Given the description of an element on the screen output the (x, y) to click on. 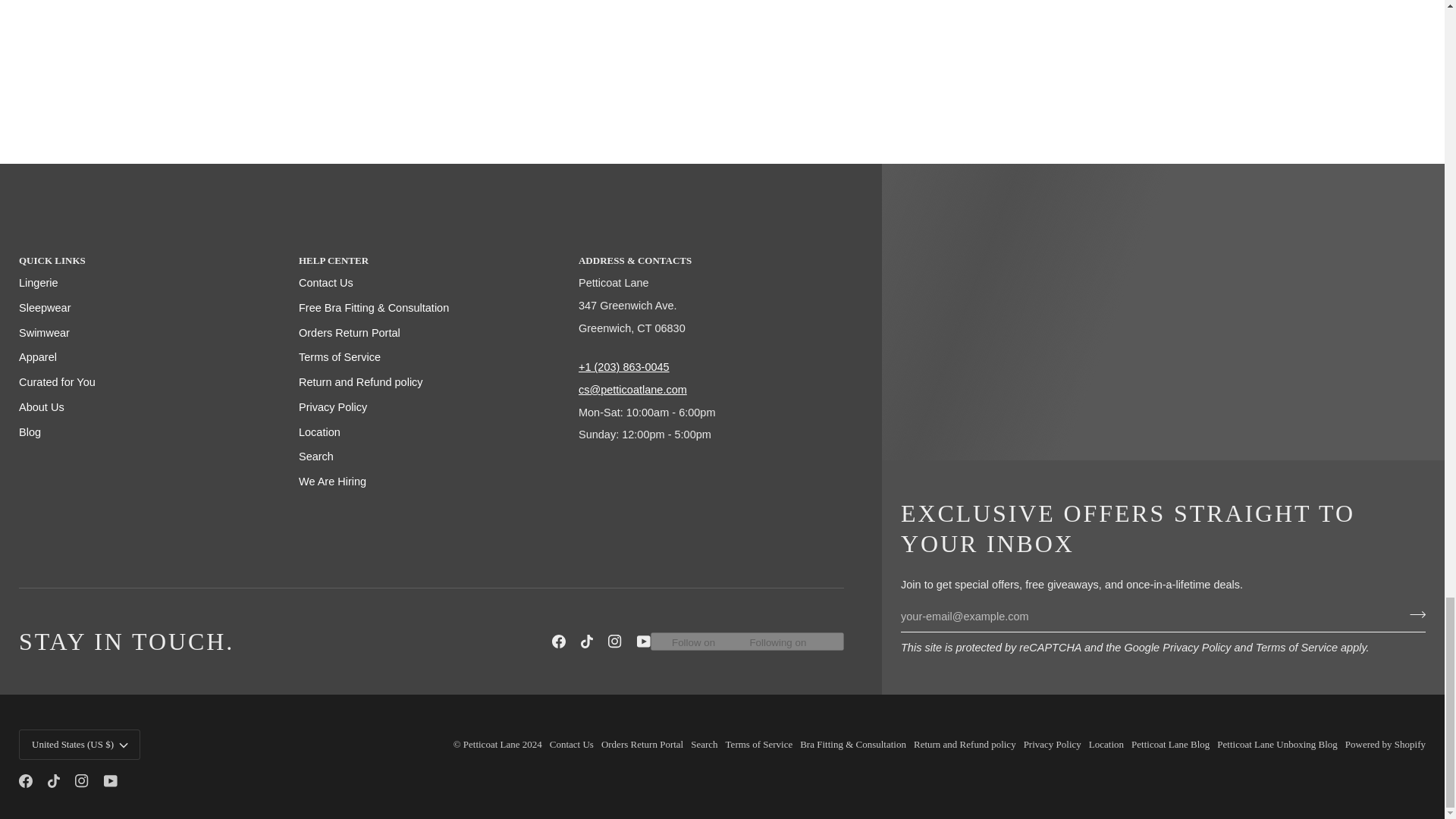
YouTube (110, 780)
Facebook (558, 641)
Facebook (25, 780)
YouTube (643, 641)
Instagram (614, 641)
Tiktok (53, 780)
Instagram (81, 780)
